Given the description of an element on the screen output the (x, y) to click on. 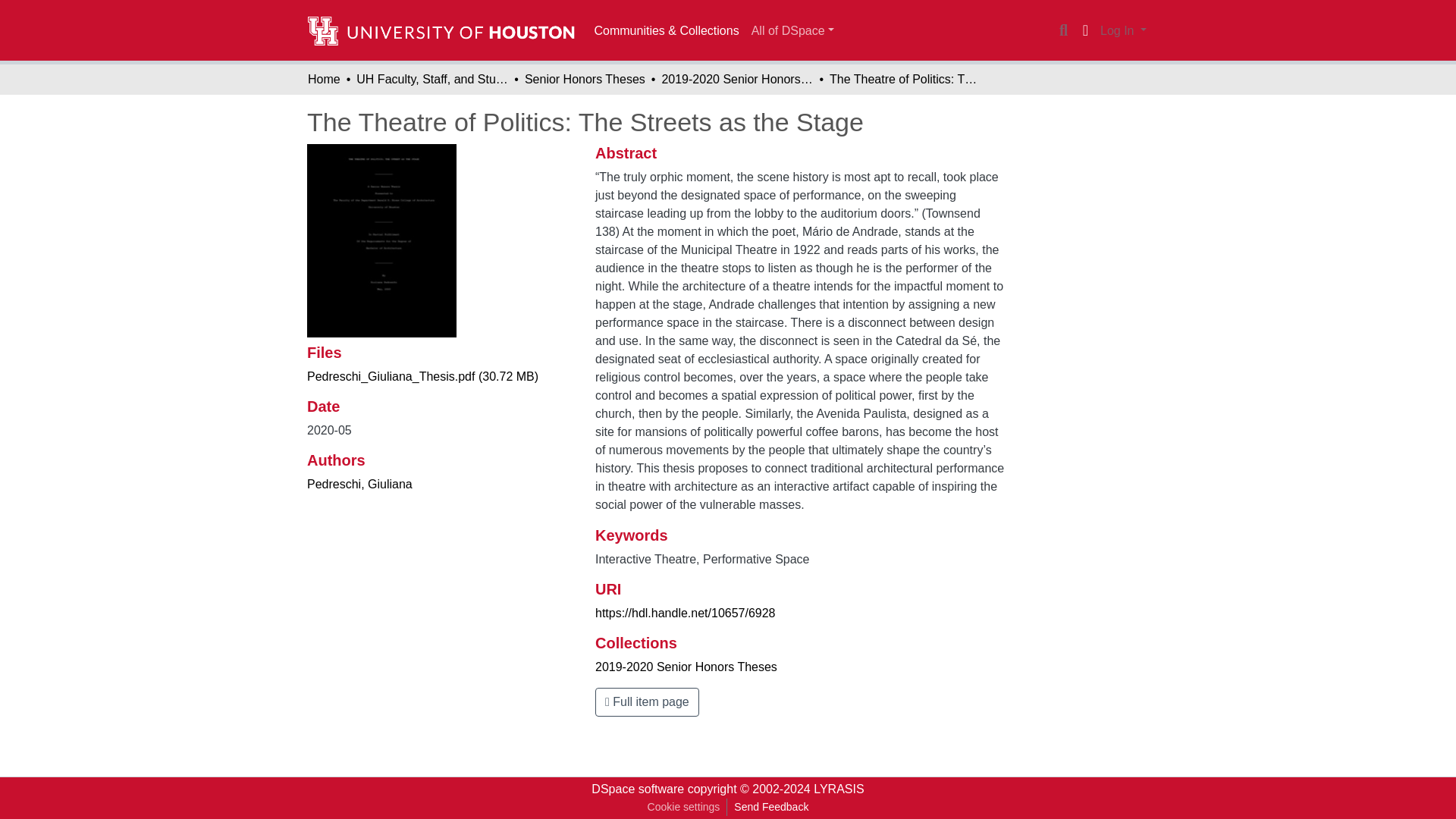
Log In (1122, 30)
Cookie settings (683, 806)
2019-2020 Senior Honors Theses (736, 79)
UH Faculty, Staff, and Student Works (432, 79)
Home (323, 79)
Senior Honors Theses (584, 79)
Language switch (1084, 30)
DSpace software (637, 788)
Pedreschi, Giuliana (359, 483)
2019-2020 Senior Honors Theses (686, 666)
LYRASIS (838, 788)
Send Feedback (770, 806)
All of DSpace (792, 30)
Full item page (646, 701)
Search (1063, 30)
